Given the description of an element on the screen output the (x, y) to click on. 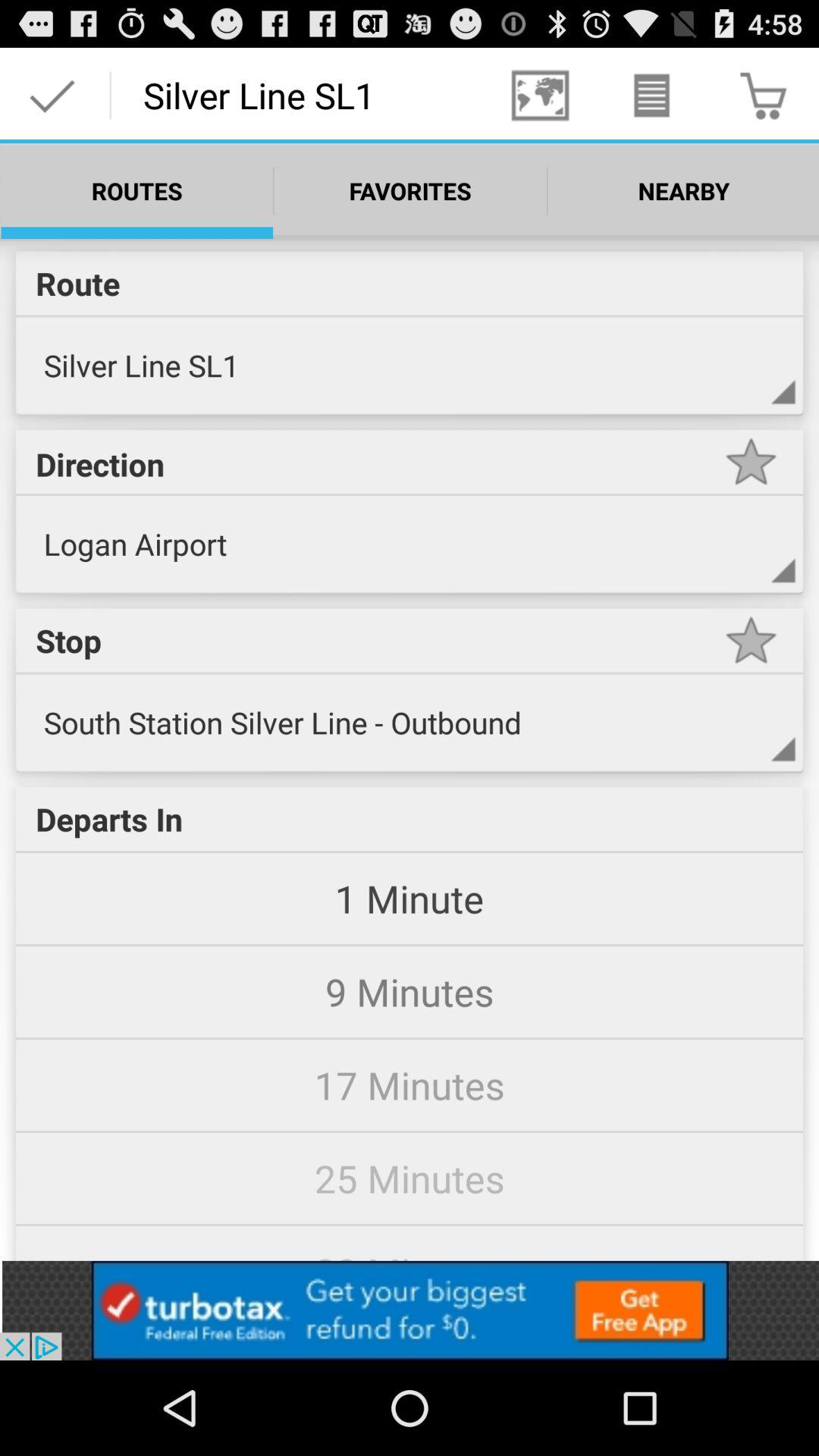
select the text just below the cart (683, 190)
